Given the description of an element on the screen output the (x, y) to click on. 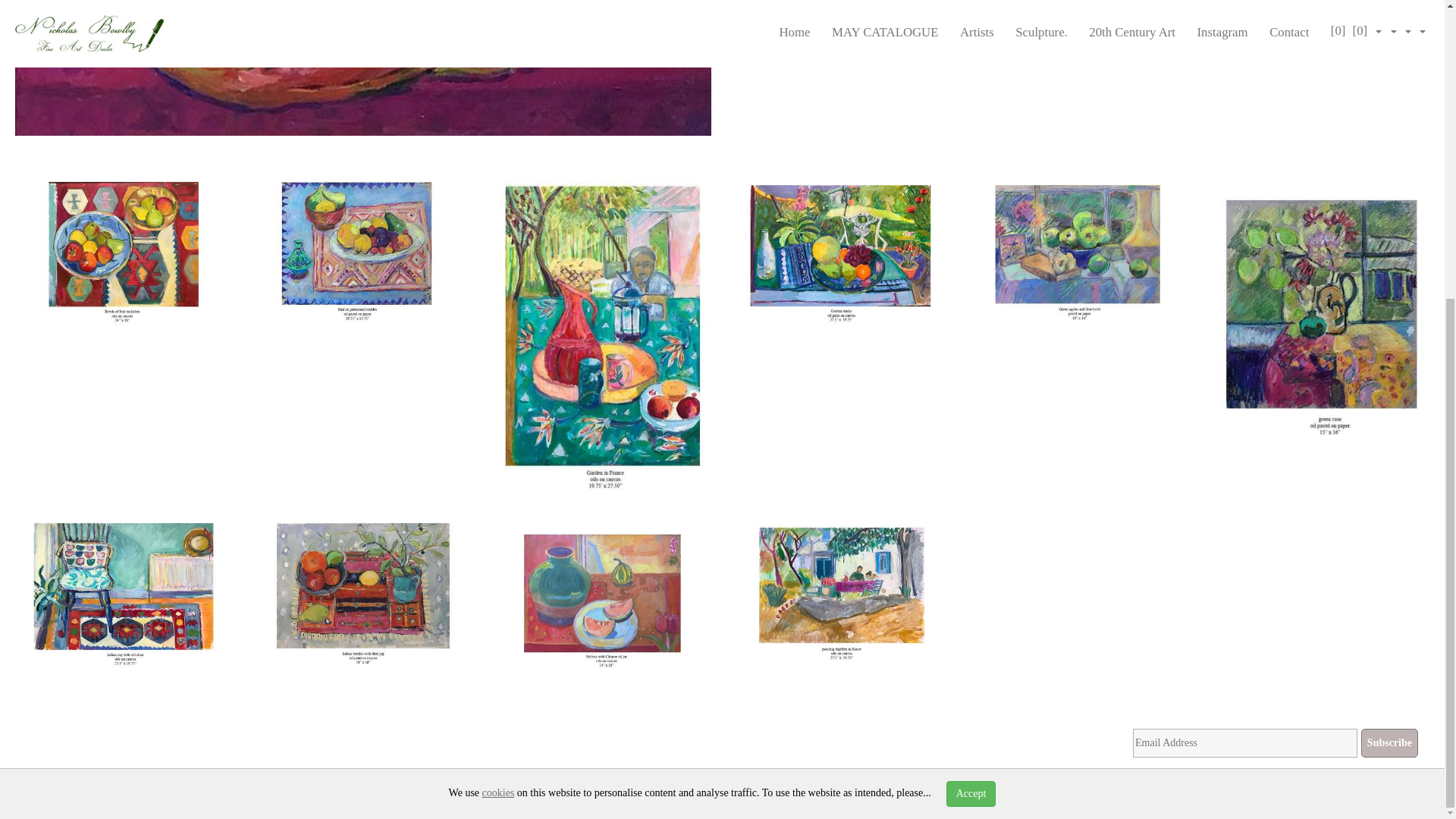
Subscribe (1389, 742)
ph9 web design (287, 787)
Antiques website design (186, 787)
Terms (742, 787)
Antiques (347, 787)
Privacy (704, 787)
